Given the description of an element on the screen output the (x, y) to click on. 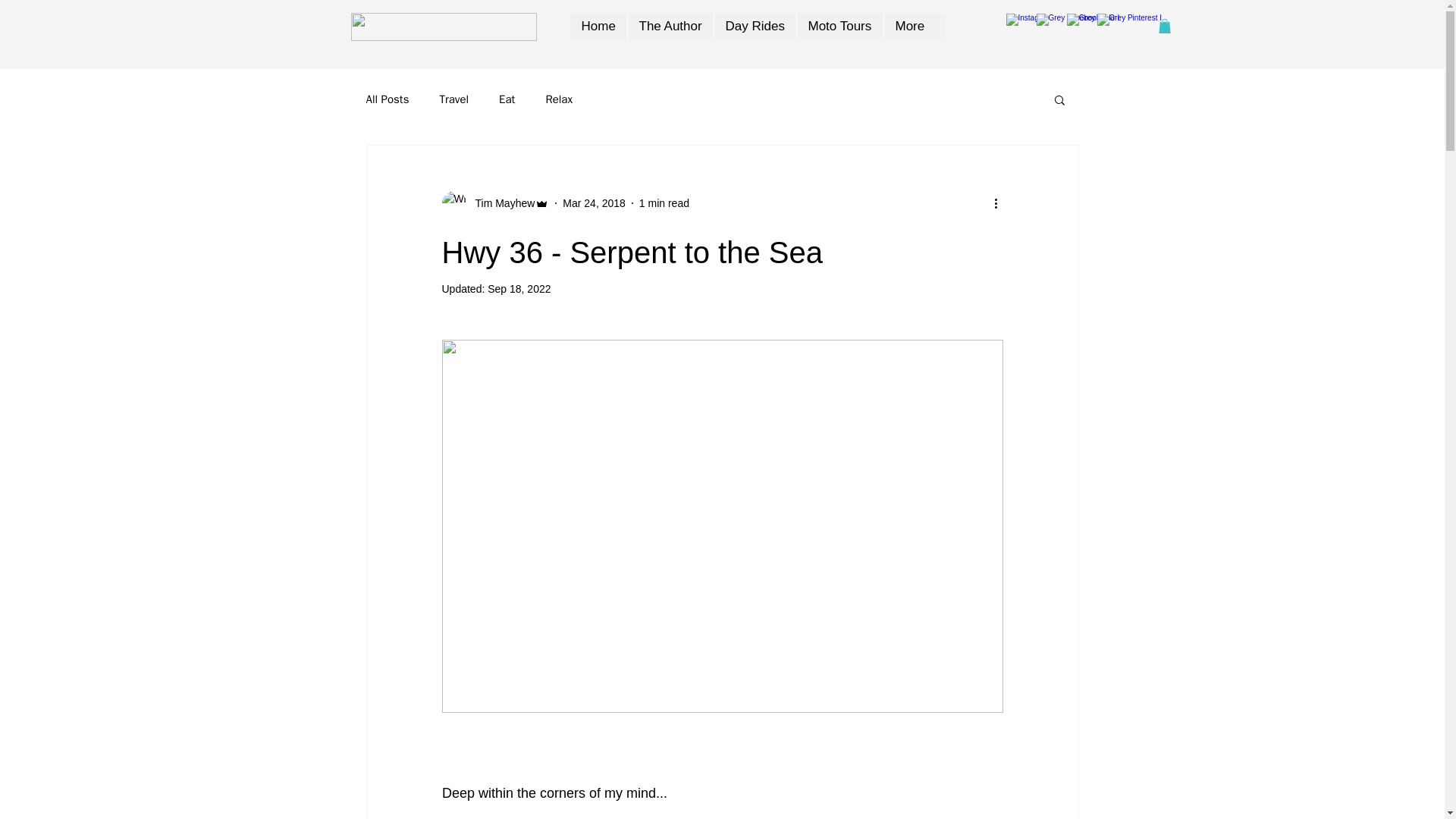
The Author (669, 25)
Home (598, 25)
Moto Tours (839, 25)
Day Rides (753, 25)
Mar 24, 2018 (594, 203)
Sep 18, 2022 (518, 288)
Tim Mayhew (499, 203)
1 min read (663, 203)
